Given the description of an element on the screen output the (x, y) to click on. 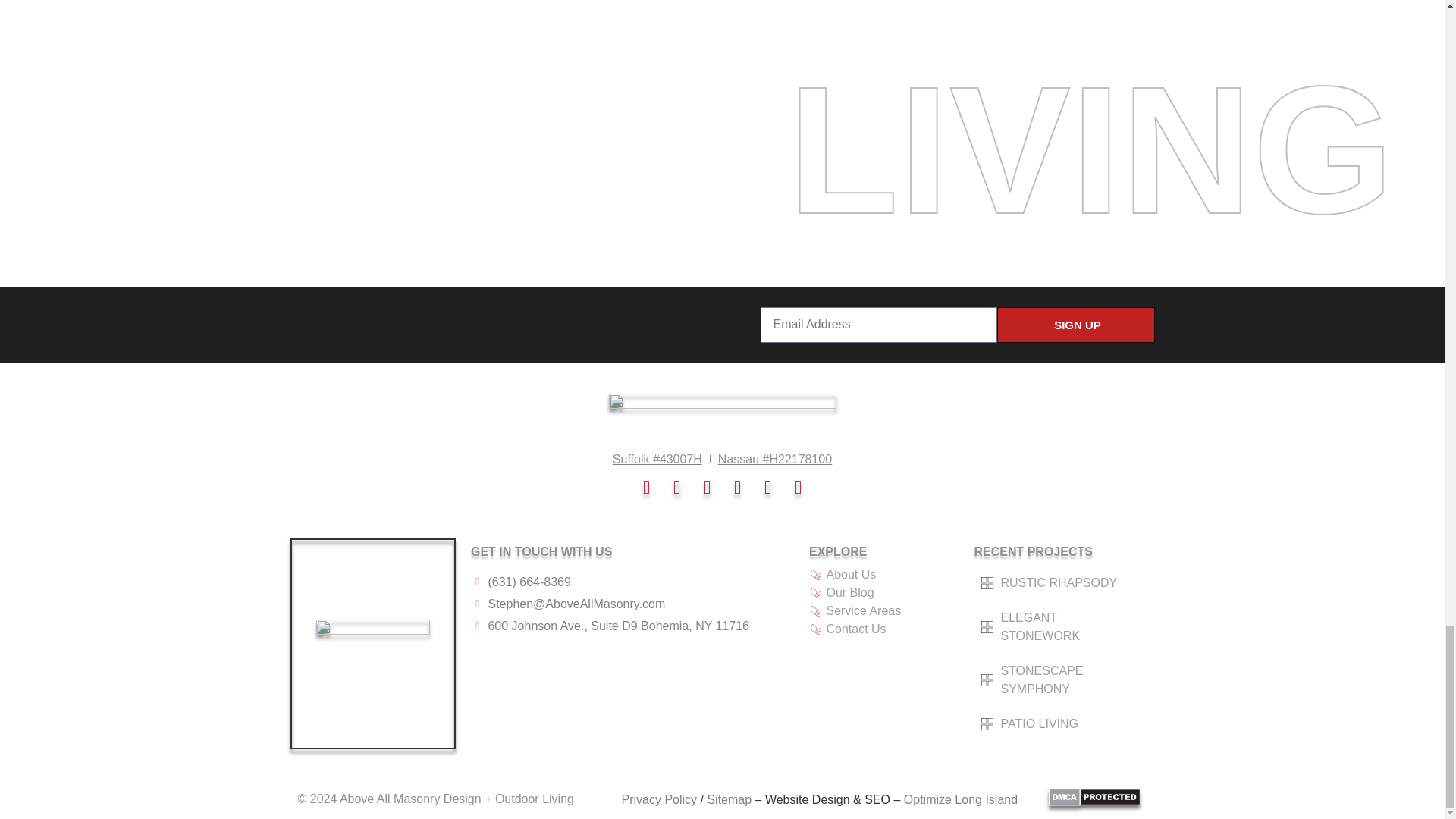
DMCA.com Protection Status (1094, 801)
